Given the description of an element on the screen output the (x, y) to click on. 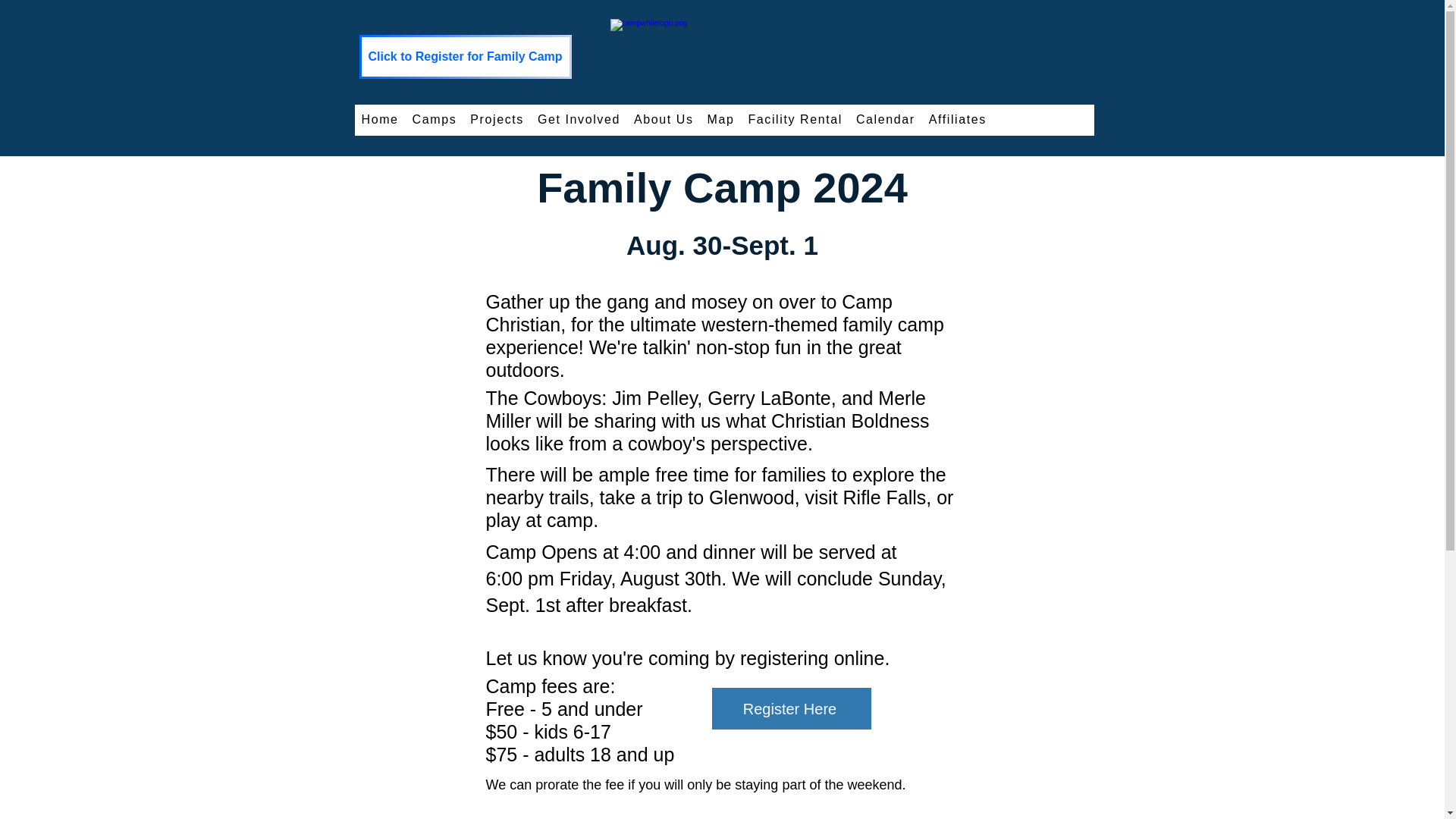
Facility Rental (794, 119)
Camps (435, 119)
Map (720, 119)
About Us (663, 119)
Click to Register for Family Camp (465, 56)
Calendar (884, 119)
Affiliates (956, 119)
Home (380, 119)
Get Involved (579, 119)
Projects (497, 119)
